Given the description of an element on the screen output the (x, y) to click on. 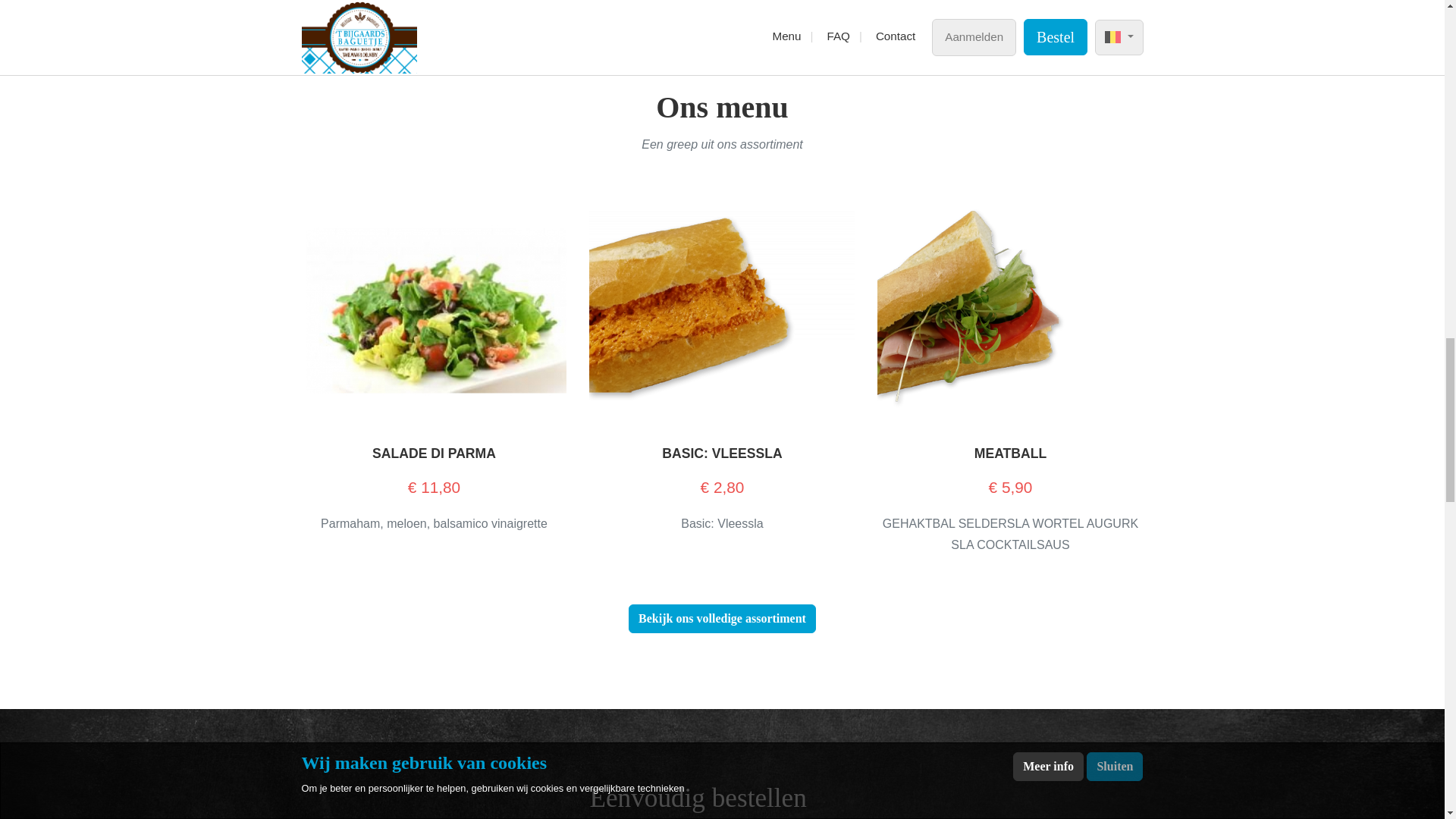
Bekijk ons volledige assortiment (721, 618)
